Given the description of an element on the screen output the (x, y) to click on. 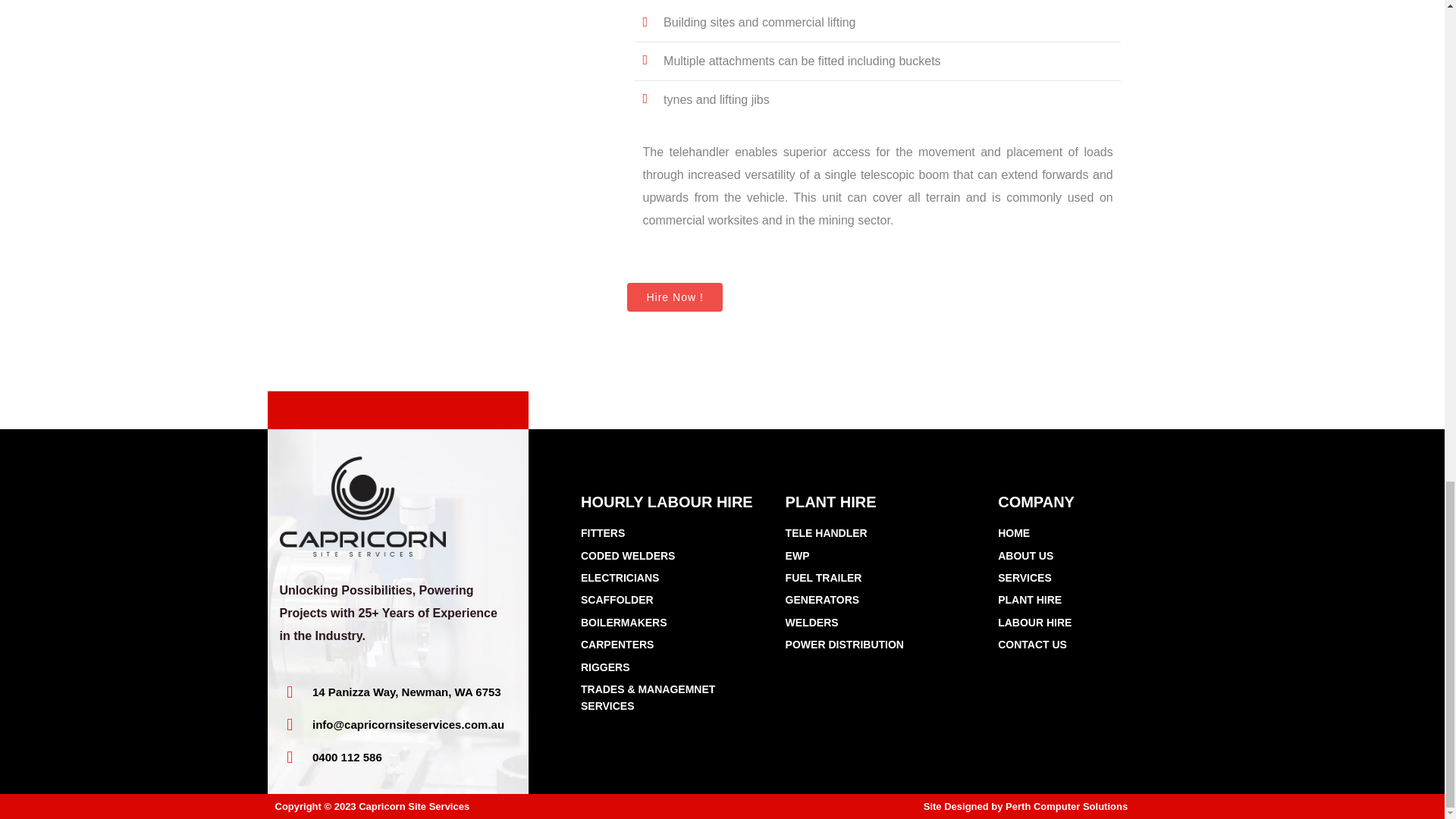
Hire Now ! (674, 297)
